Given the description of an element on the screen output the (x, y) to click on. 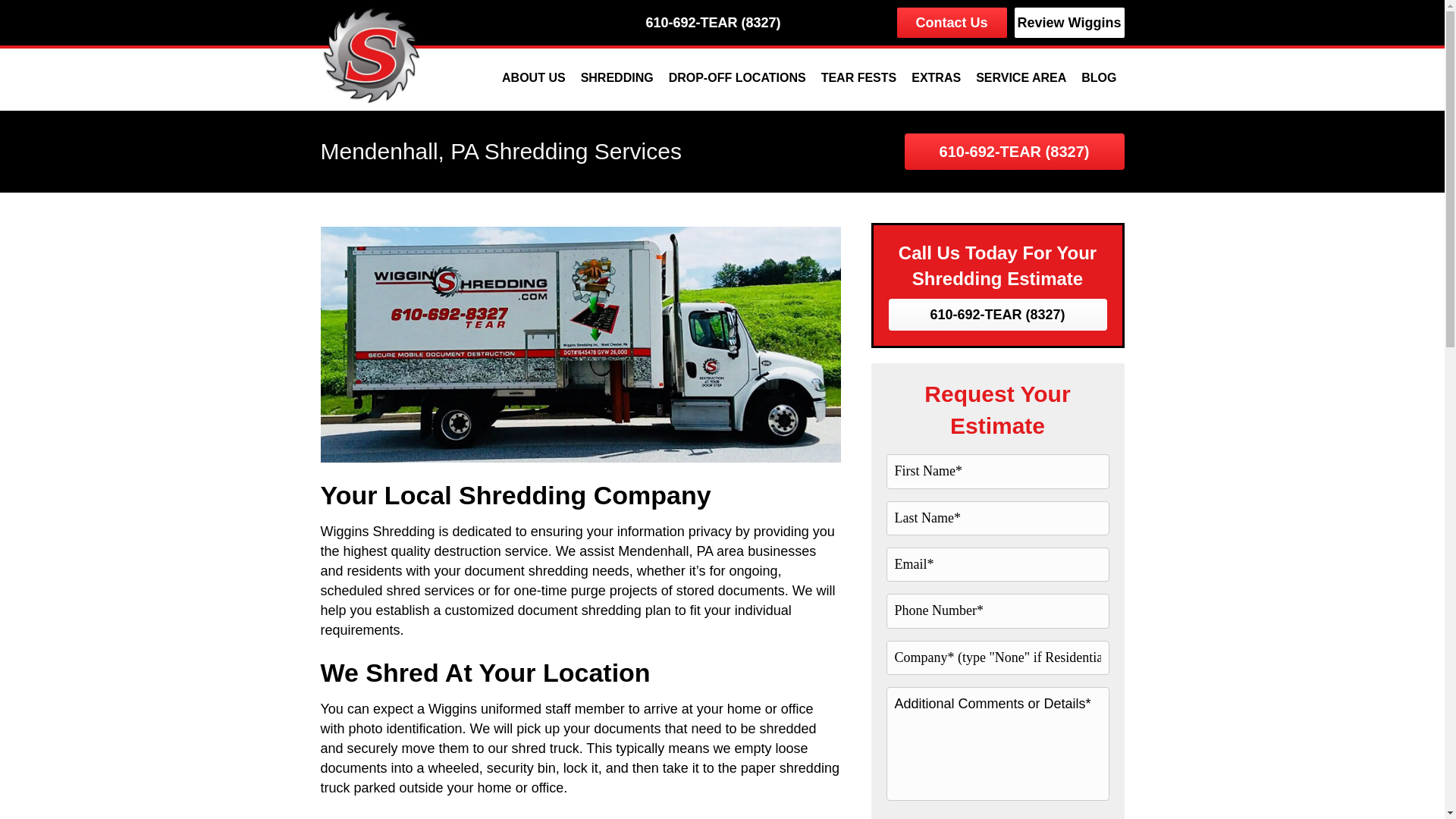
Contact Us (951, 22)
SERVICE AREA (1021, 77)
BLOG (1098, 77)
ABOUT US (533, 77)
Blade3 (371, 51)
TEAR FESTS (858, 77)
Review Wiggins (1069, 22)
DROP-OFF LOCATIONS (737, 77)
EXTRAS (935, 77)
SHREDDING (617, 77)
